Given the description of an element on the screen output the (x, y) to click on. 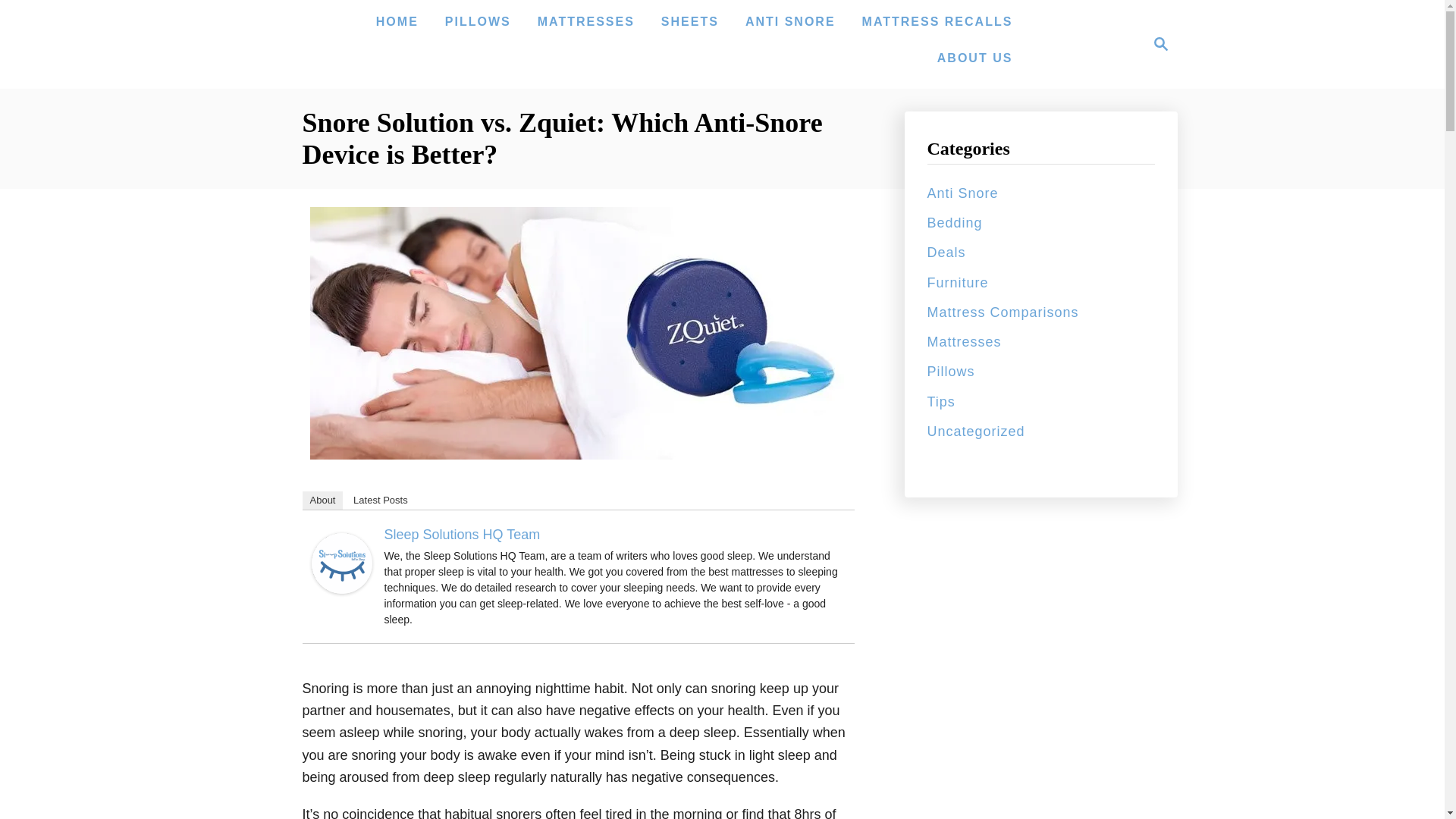
Bedding (953, 222)
Magnifying Glass (1160, 44)
Sleep Solutions HQ Team (341, 563)
MATTRESS RECALLS (937, 21)
ABOUT US (975, 58)
ANTI SNORE (790, 21)
SHEETS (689, 21)
HOME (397, 21)
PILLOWS (478, 21)
MATTRESSES (585, 21)
